Given the description of an element on the screen output the (x, y) to click on. 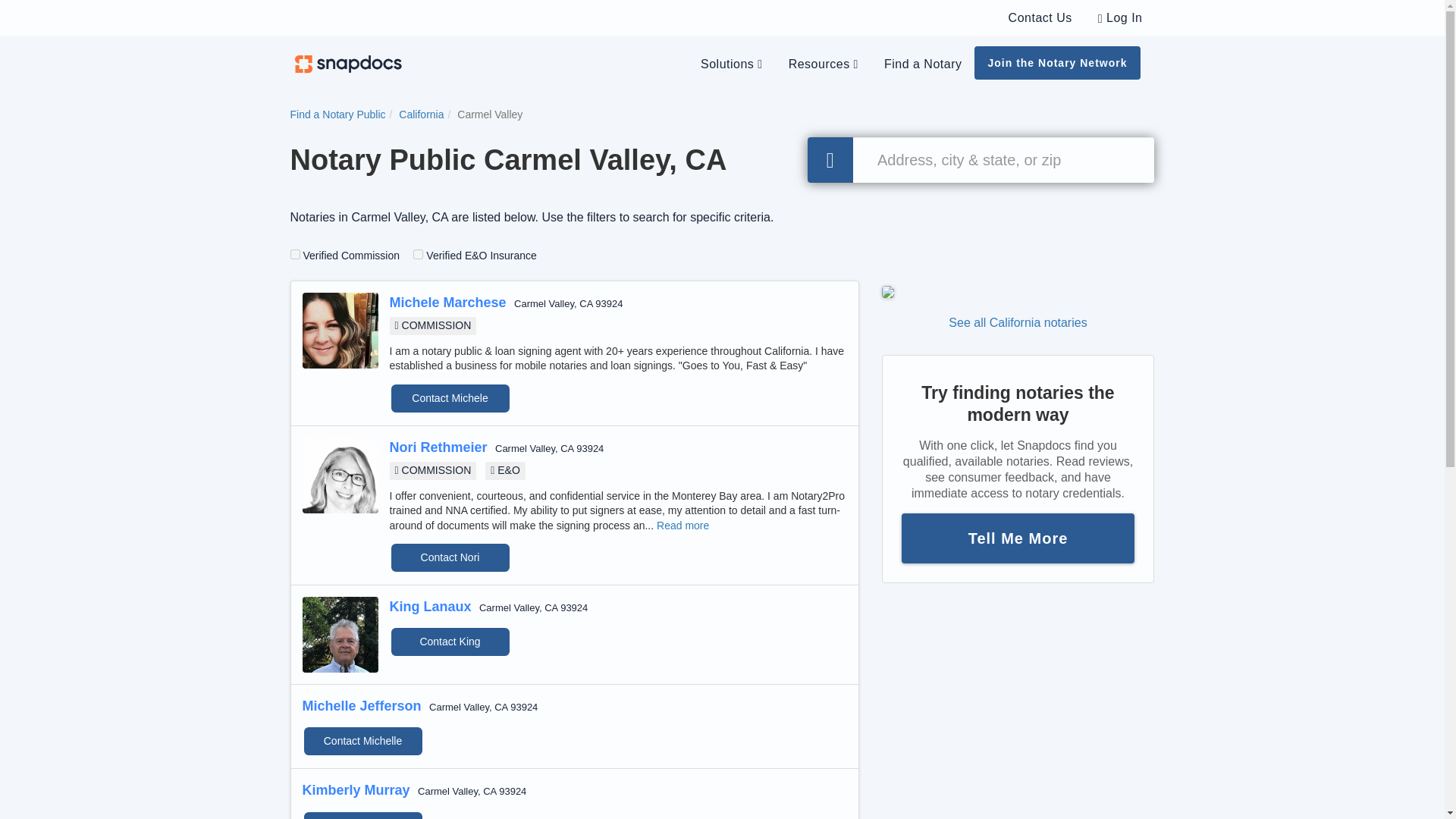
Michele Marchese (448, 302)
Join the Notary Network (1057, 62)
Contact Us (1040, 17)
Tell Me More (1017, 537)
Contact King (450, 641)
true (418, 254)
Contact Kimberly (362, 814)
